Given the description of an element on the screen output the (x, y) to click on. 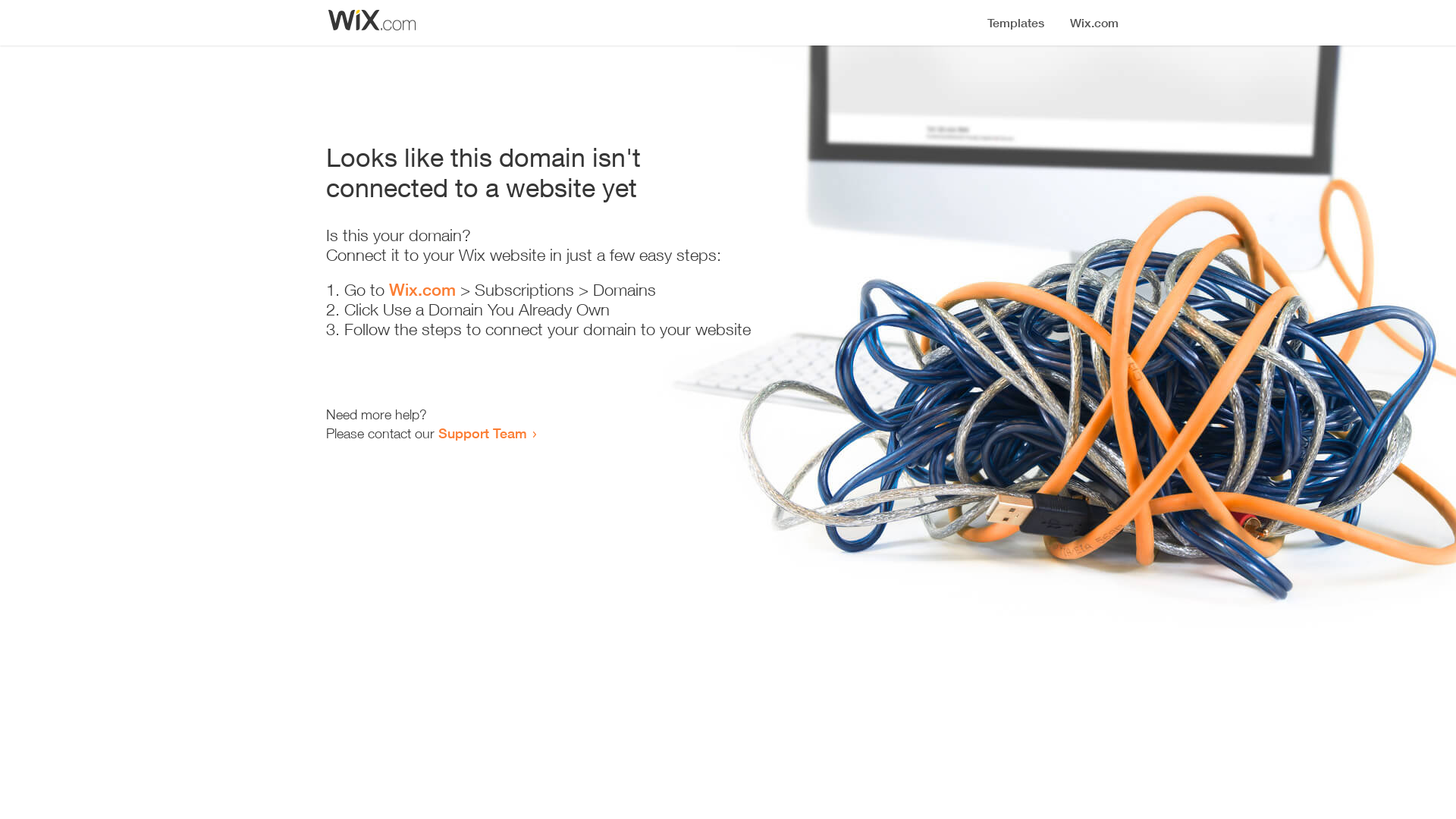
Wix.com Element type: text (422, 289)
Support Team Element type: text (482, 432)
